Given the description of an element on the screen output the (x, y) to click on. 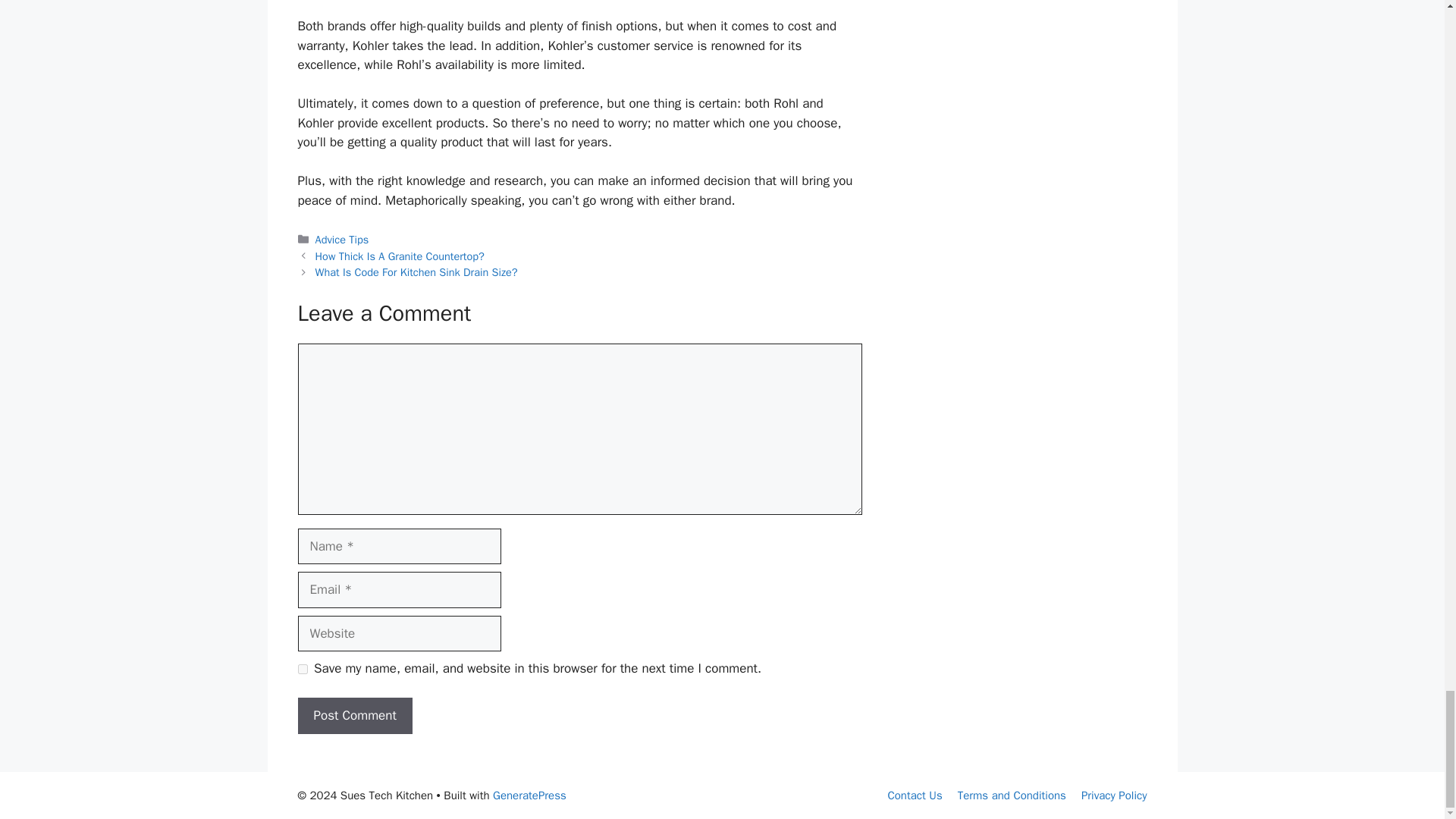
Post Comment (354, 715)
yes (302, 669)
Post Comment (354, 715)
What Is Code For Kitchen Sink Drain Size? (416, 272)
How Thick Is A Granite Countertop? (399, 255)
Advice Tips (342, 239)
